Given the description of an element on the screen output the (x, y) to click on. 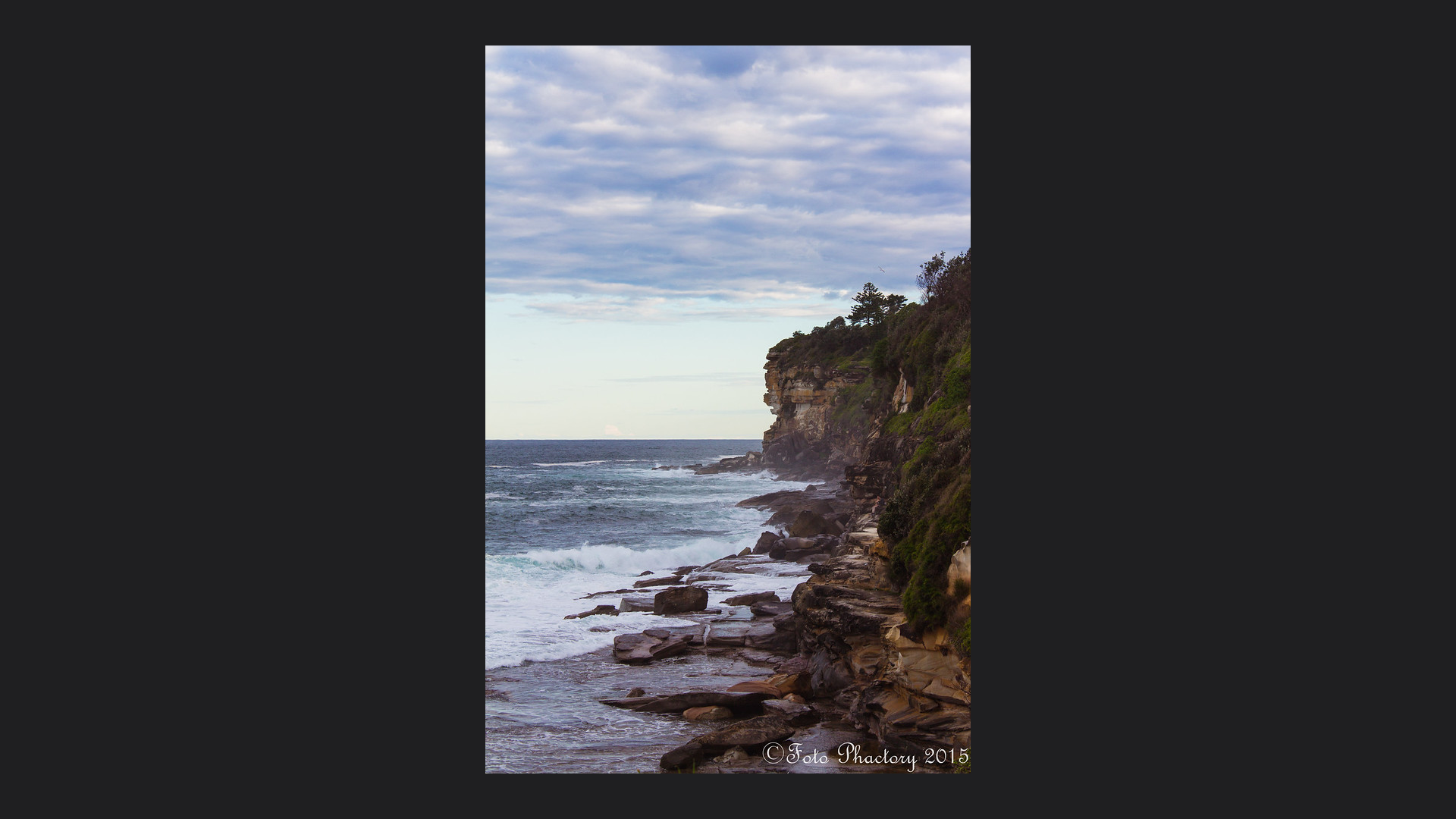
HOME Element type: text (82, 257)
PEOPLE & PORTRAIT Element type: text (82, 393)
BUY PHOTOS Element type: text (1352, 79)
WILDLIFE Element type: text (83, 426)
ABOUT ME Element type: text (82, 494)
CONTACT ME Element type: text (83, 528)
Download All Element type: hover (1267, 79)
Slideshow Element type: hover (1230, 79)
TAG CLOUD Element type: text (82, 460)
FOTO PHACTORY Element type: text (83, 191)
NATURE & LANDSCAPE Element type: text (83, 359)
ARCHITECTURE Element type: text (83, 324)
RECENT ADDITIONS Element type: text (83, 291)
